Given the description of an element on the screen output the (x, y) to click on. 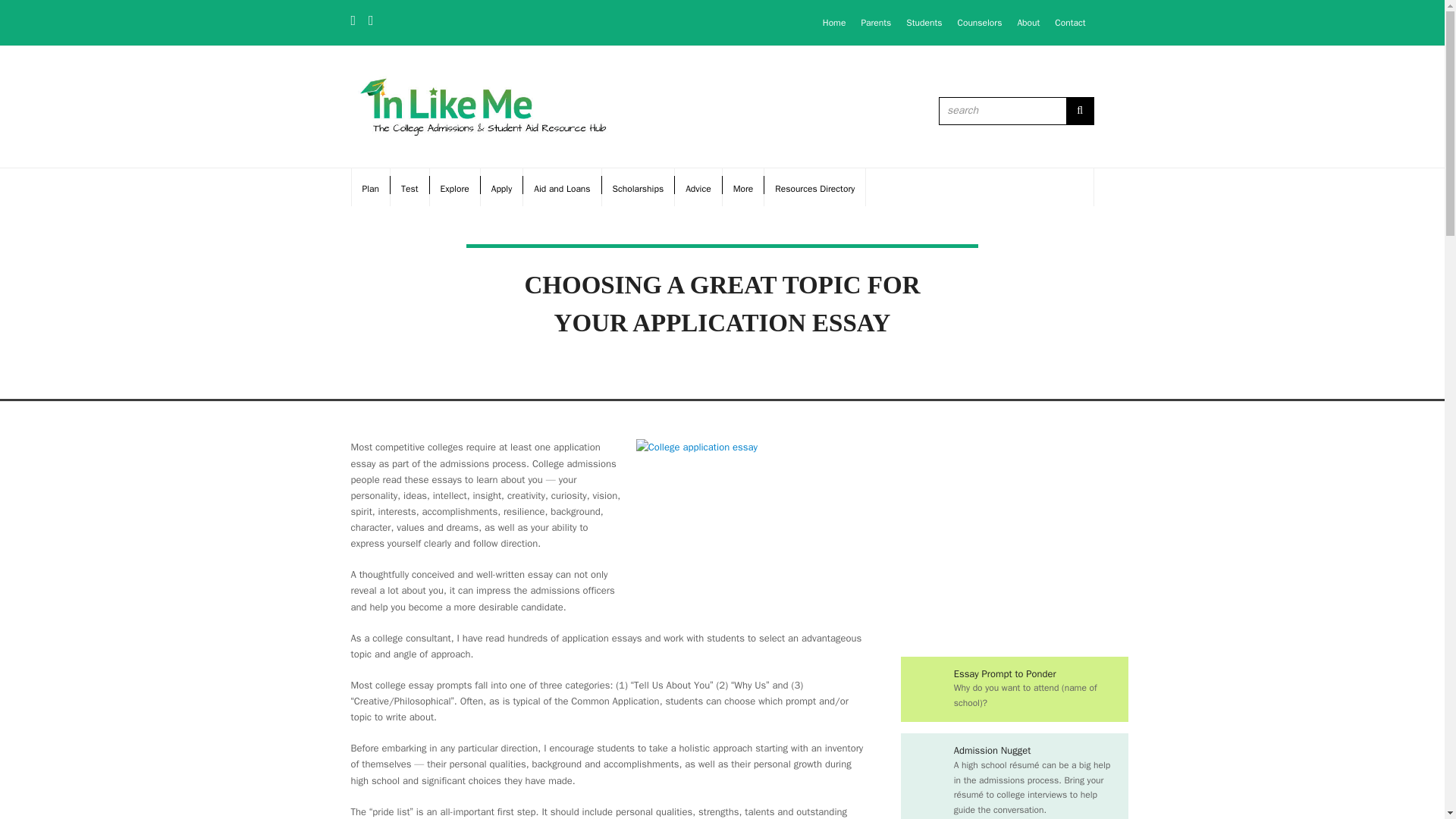
Students (923, 22)
Apply (501, 187)
About (1027, 22)
Explore (454, 187)
Plan (371, 187)
Parents (875, 22)
Home (833, 22)
Contact (1069, 22)
Search (1079, 111)
Student Typing College Essay in a Library (749, 513)
